Given the description of an element on the screen output the (x, y) to click on. 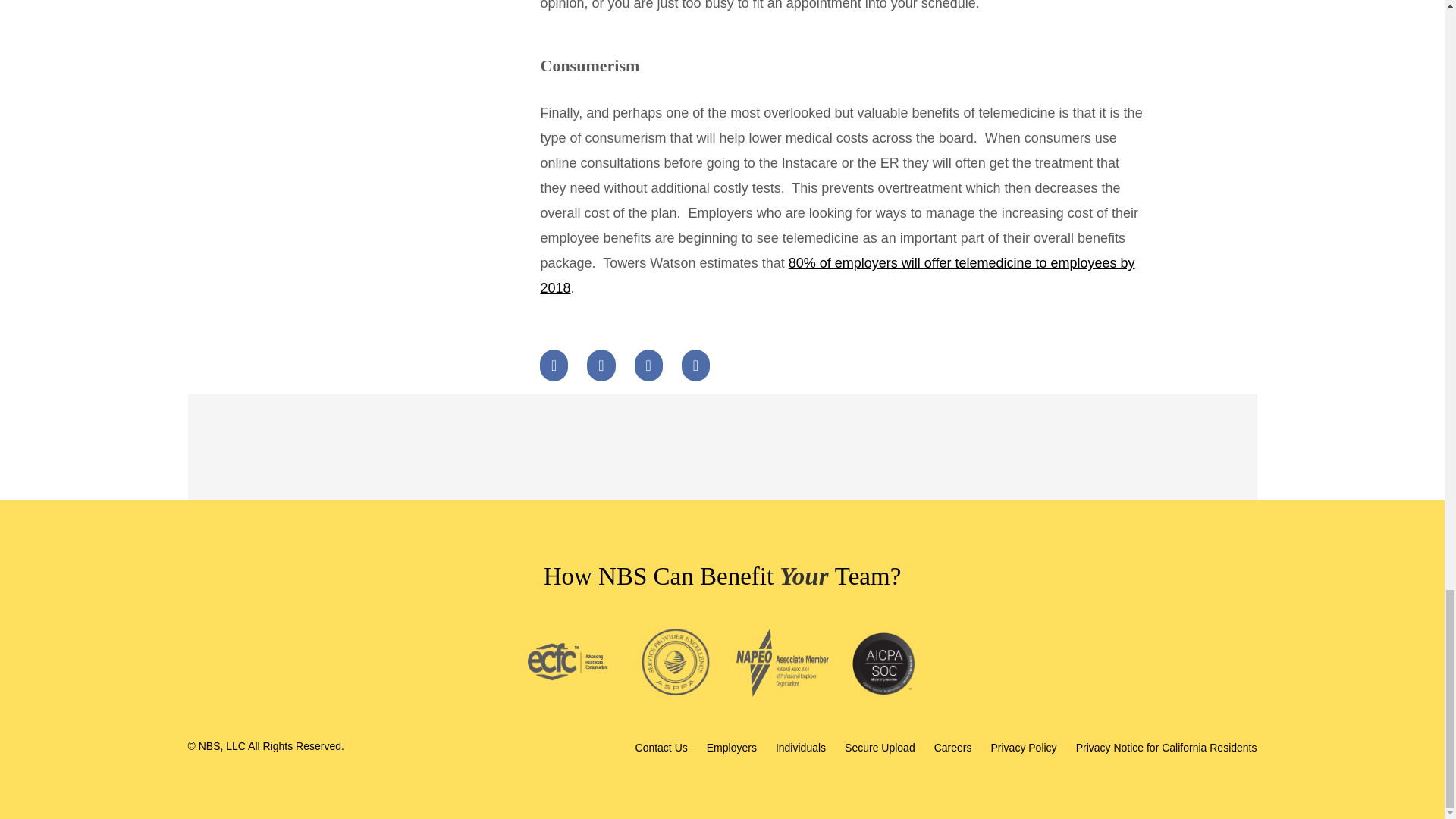
Contact Us (660, 747)
Employers (731, 747)
Individuals (800, 747)
